Given the description of an element on the screen output the (x, y) to click on. 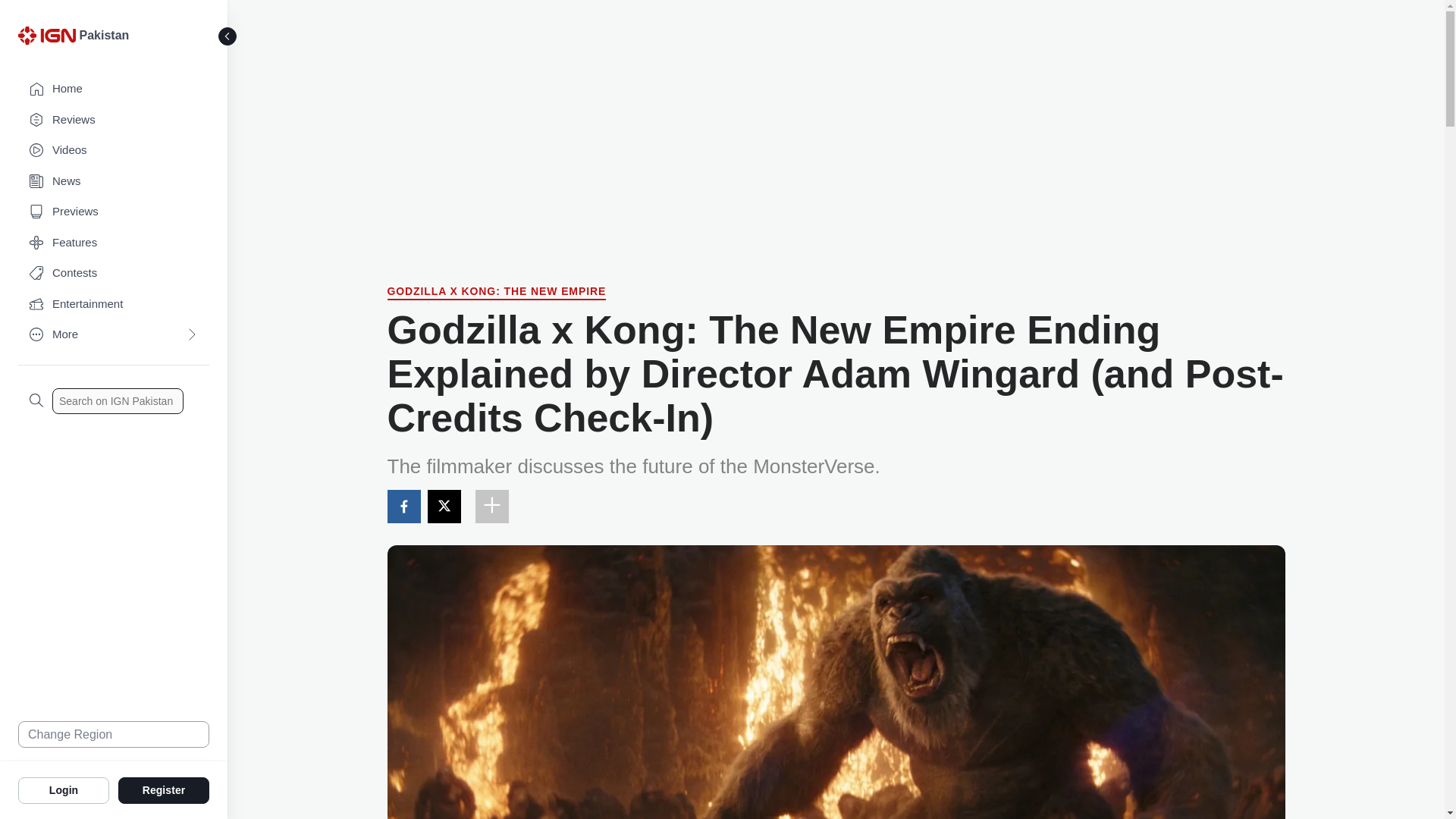
Features (113, 242)
News (113, 181)
IGN Logo (46, 34)
Home (113, 89)
Contests (113, 273)
GODZILLA X KONG: THE NEW EMPIRE (496, 292)
More (113, 334)
Videos (113, 150)
IGN Logo (48, 39)
Godzilla x Kong: The New Empire (496, 292)
Entertainment (113, 304)
Register (163, 789)
Toggle Sidebar (226, 36)
Login (63, 789)
Reviews (113, 119)
